Given the description of an element on the screen output the (x, y) to click on. 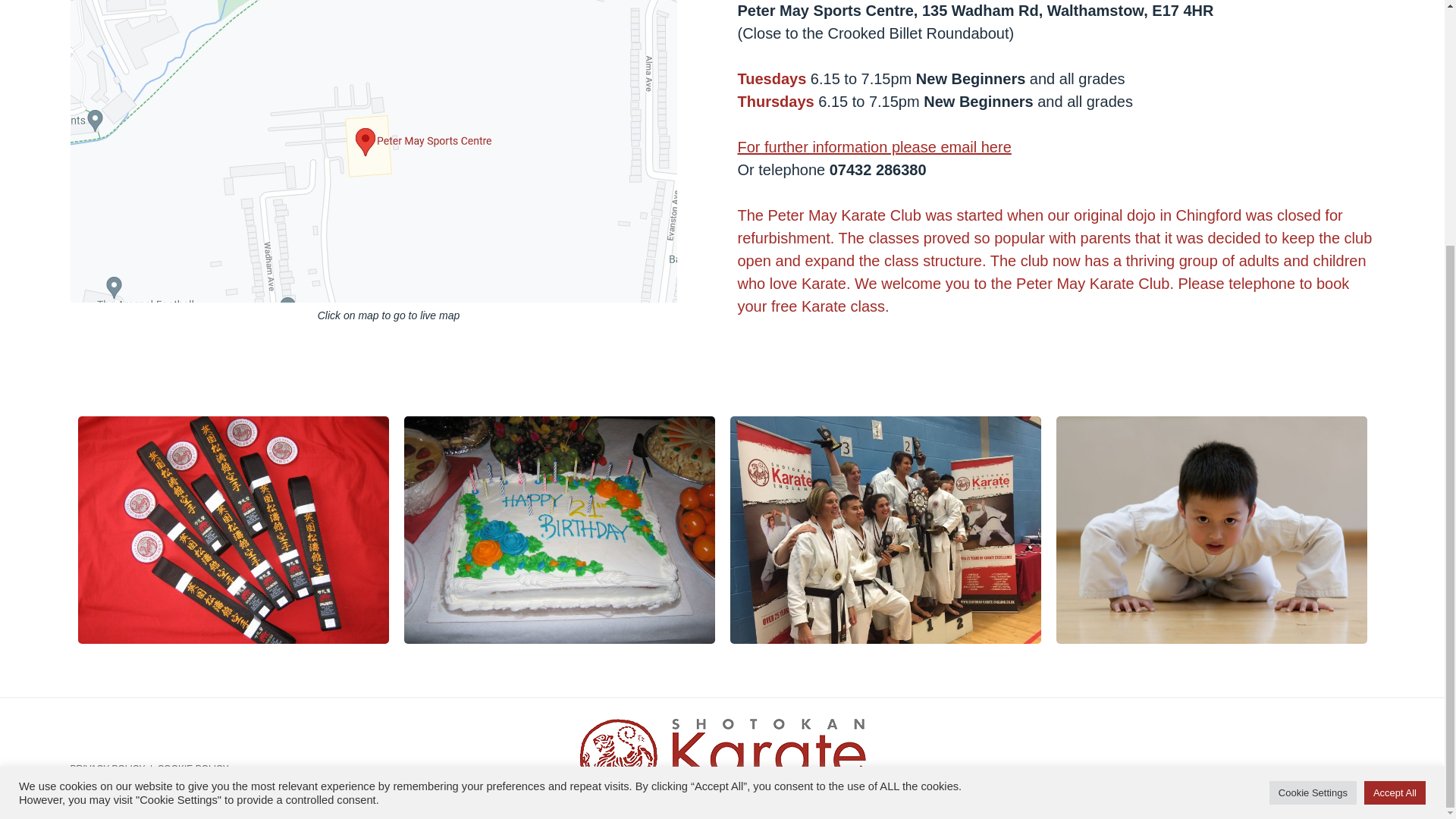
Accept All (1394, 451)
For further information please email here (873, 146)
Cookie Settings (1312, 451)
WEB DEVELOPMENT BY GO LIVE UK (1294, 788)
PRIVACY POLICY (106, 768)
Website Development and Support by Go Live UK Ltd (1294, 788)
COOKIE POLICY (192, 768)
